Given the description of an element on the screen output the (x, y) to click on. 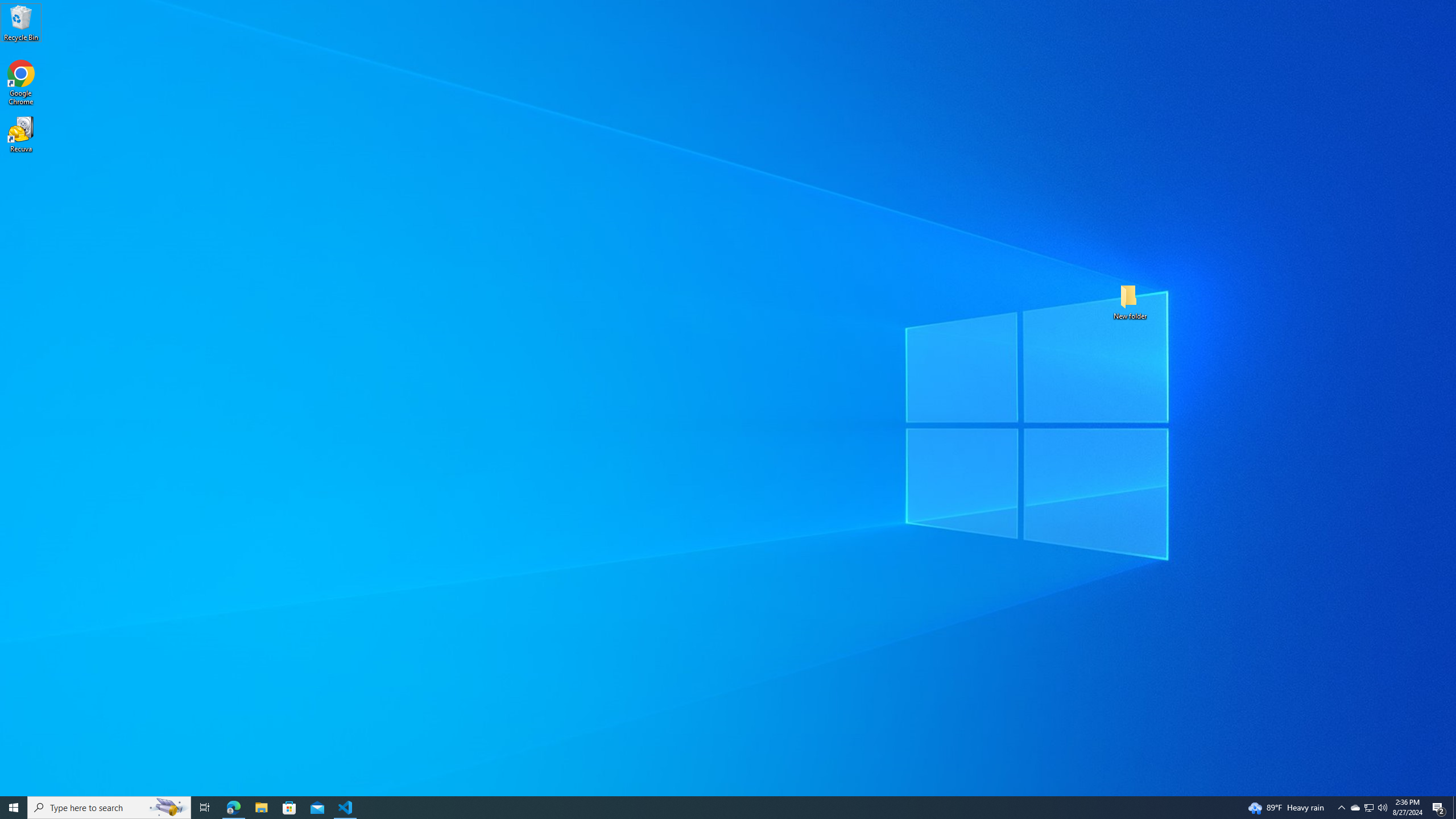
Visual Studio Code - 1 running window (345, 807)
Search highlights icon opens search home window (167, 807)
Type here to search (108, 807)
Action Center, 2 new notifications (1439, 807)
Recycle Bin (21, 22)
Task View (204, 807)
Notification Chevron (1341, 807)
Show desktop (1454, 807)
Start (13, 807)
File Explorer (261, 807)
Recuva (21, 133)
User Promoted Notification Area (1368, 807)
